Given the description of an element on the screen output the (x, y) to click on. 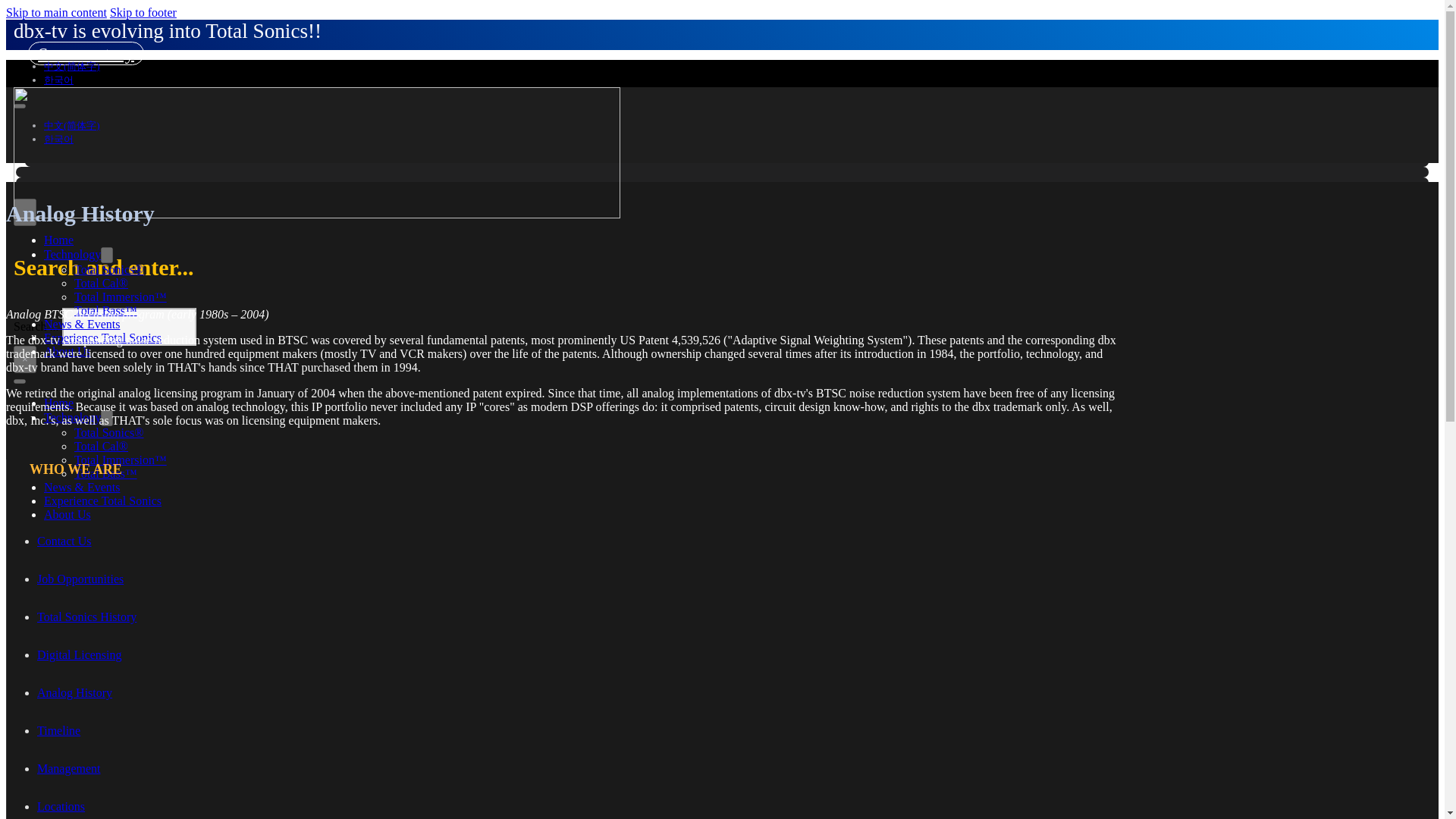
Contact Us (64, 540)
About Us (66, 350)
Digital Licensing (79, 654)
Experience Total Sonics (102, 500)
Job Opportunities (80, 578)
Home (58, 239)
See our story (85, 52)
About Us (66, 513)
Skip to footer (143, 11)
Technology (71, 417)
Skip to main content (55, 11)
Total Sonics History (86, 616)
Experience Total Sonics (102, 337)
Home (58, 402)
Technology (71, 254)
